Given the description of an element on the screen output the (x, y) to click on. 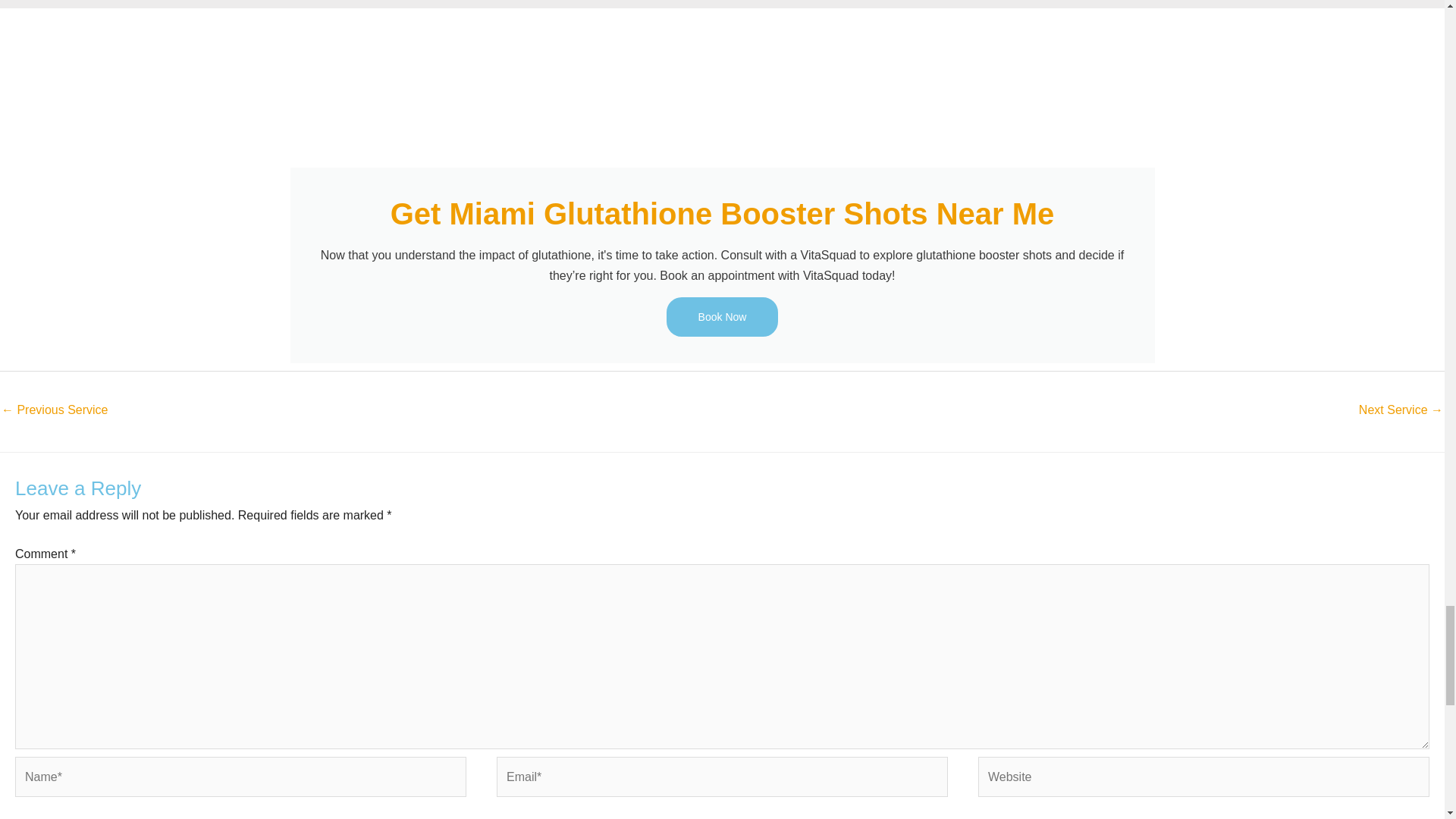
Florida CoQ10 IV Booster Shots (1400, 411)
MIC Booster Shots (54, 411)
